Given the description of an element on the screen output the (x, y) to click on. 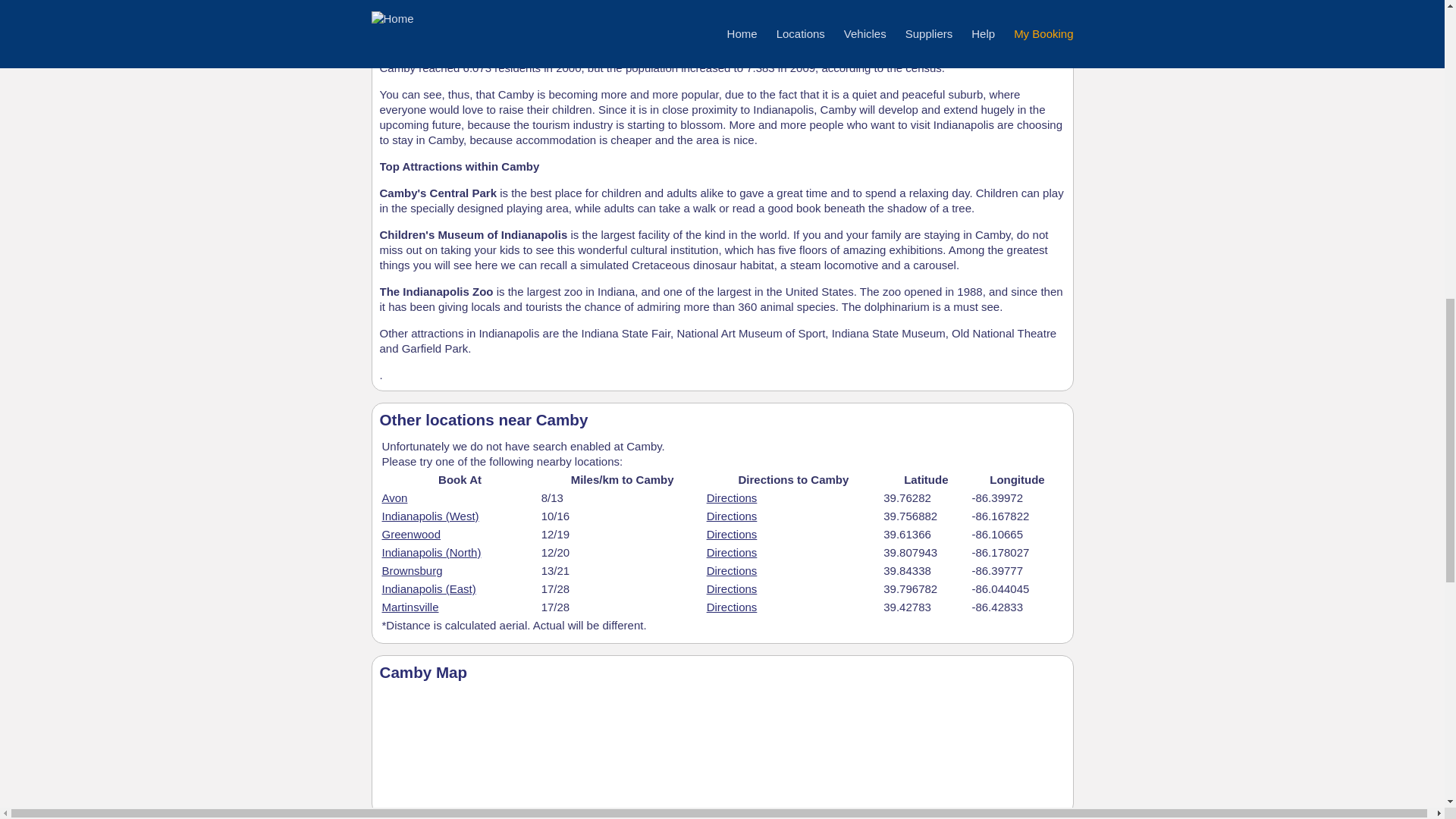
Martinsville (410, 606)
Brownsburg (411, 570)
Avon (394, 497)
Greenwood (411, 533)
